Given the description of an element on the screen output the (x, y) to click on. 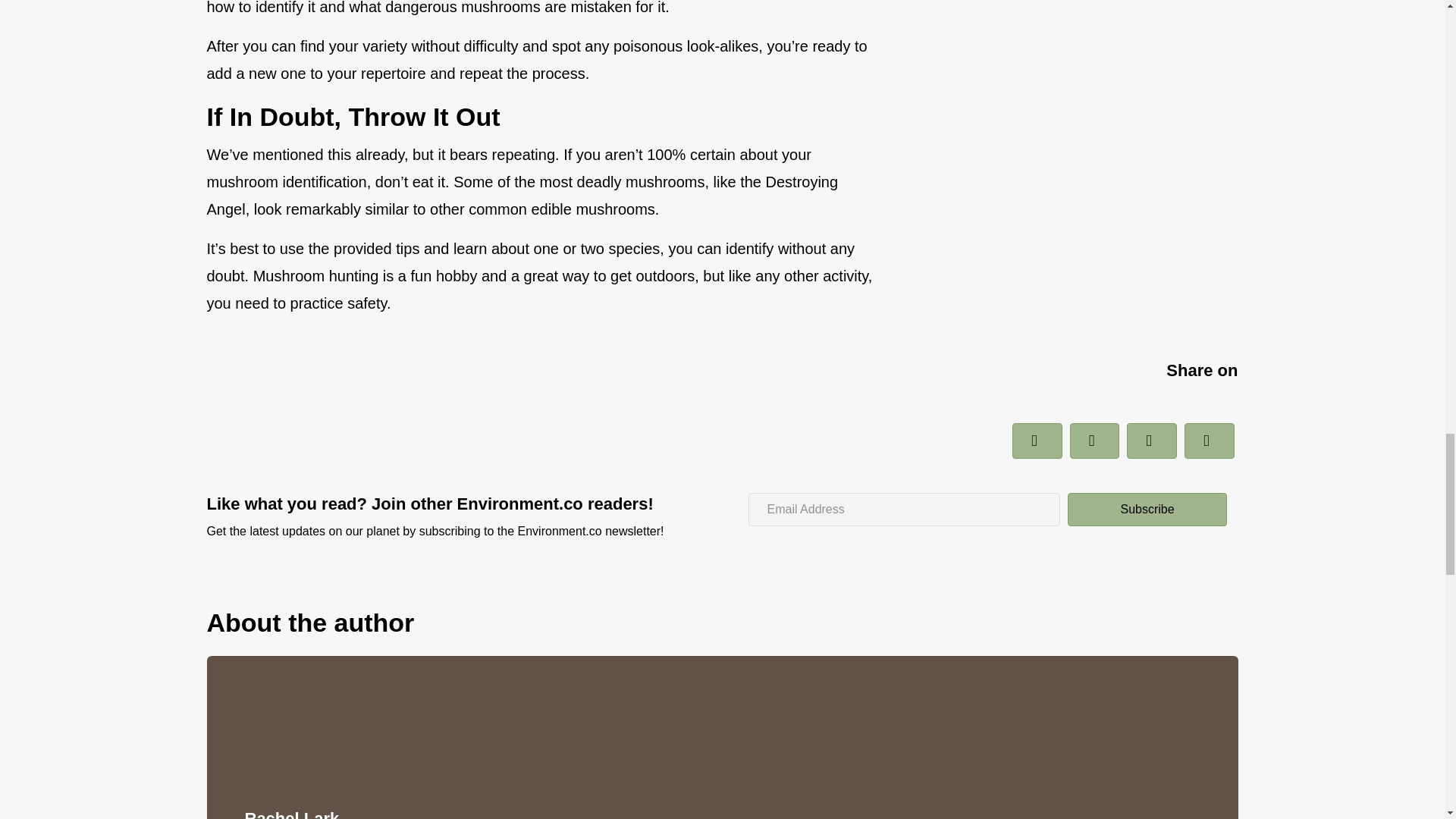
Subscribe (1147, 509)
